Given the description of an element on the screen output the (x, y) to click on. 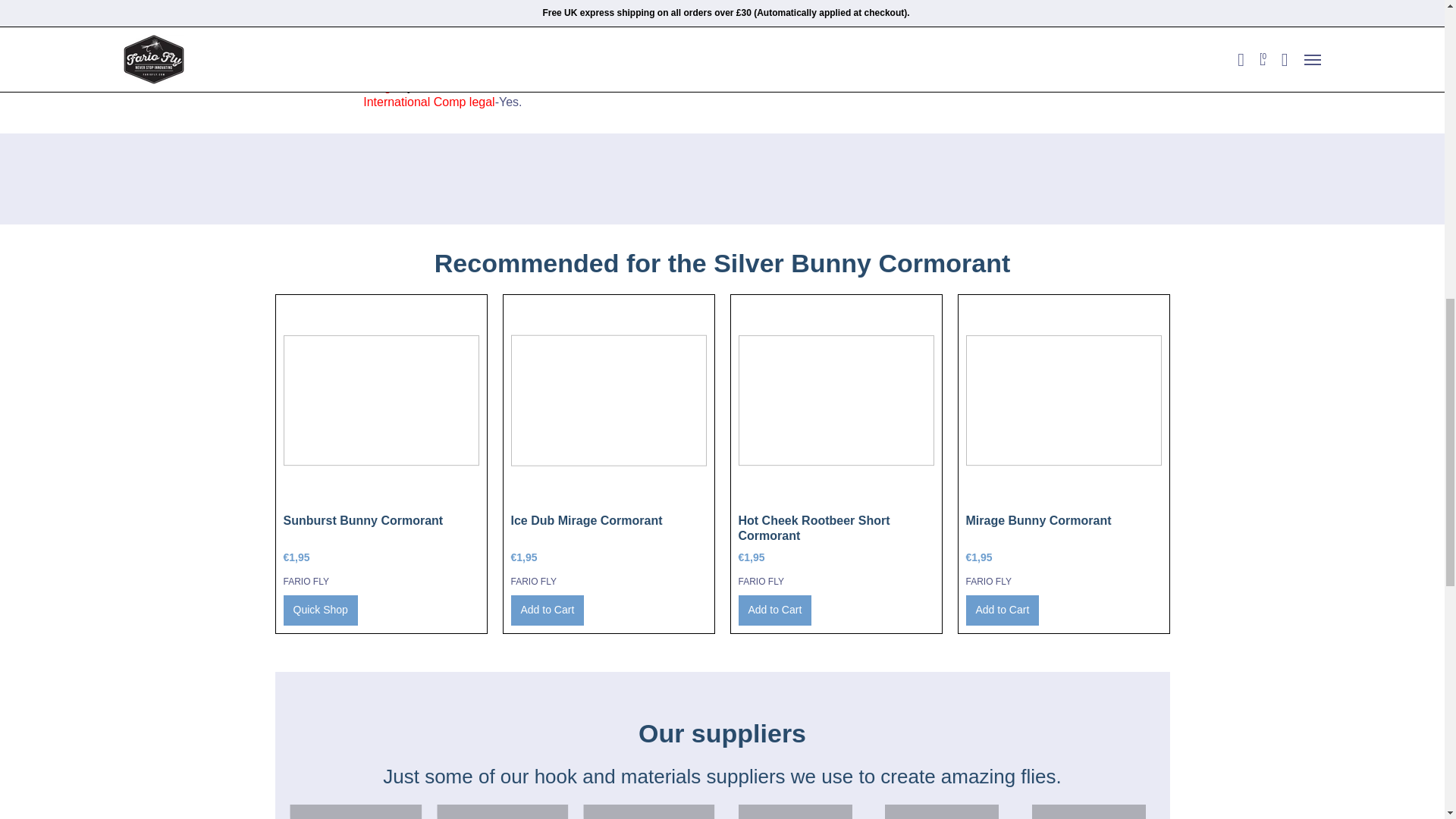
Add to Cart (775, 610)
Add to Cart (548, 610)
Add to Cart (1002, 610)
